Given the description of an element on the screen output the (x, y) to click on. 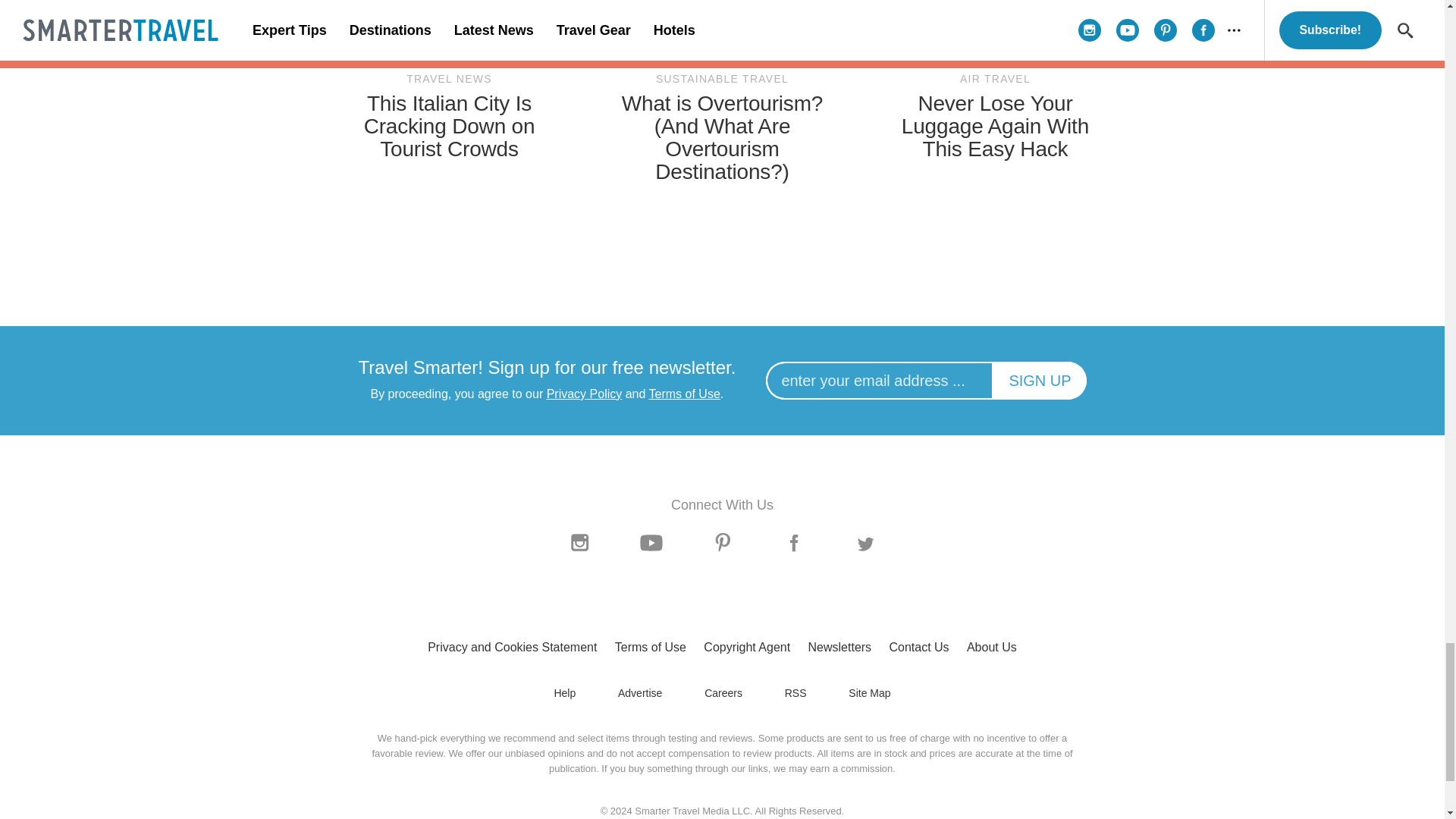
View all posts in Sustainable Travel (722, 79)
View all posts in Air Travel (994, 79)
View all posts in Travel News (449, 79)
